Given the description of an element on the screen output the (x, y) to click on. 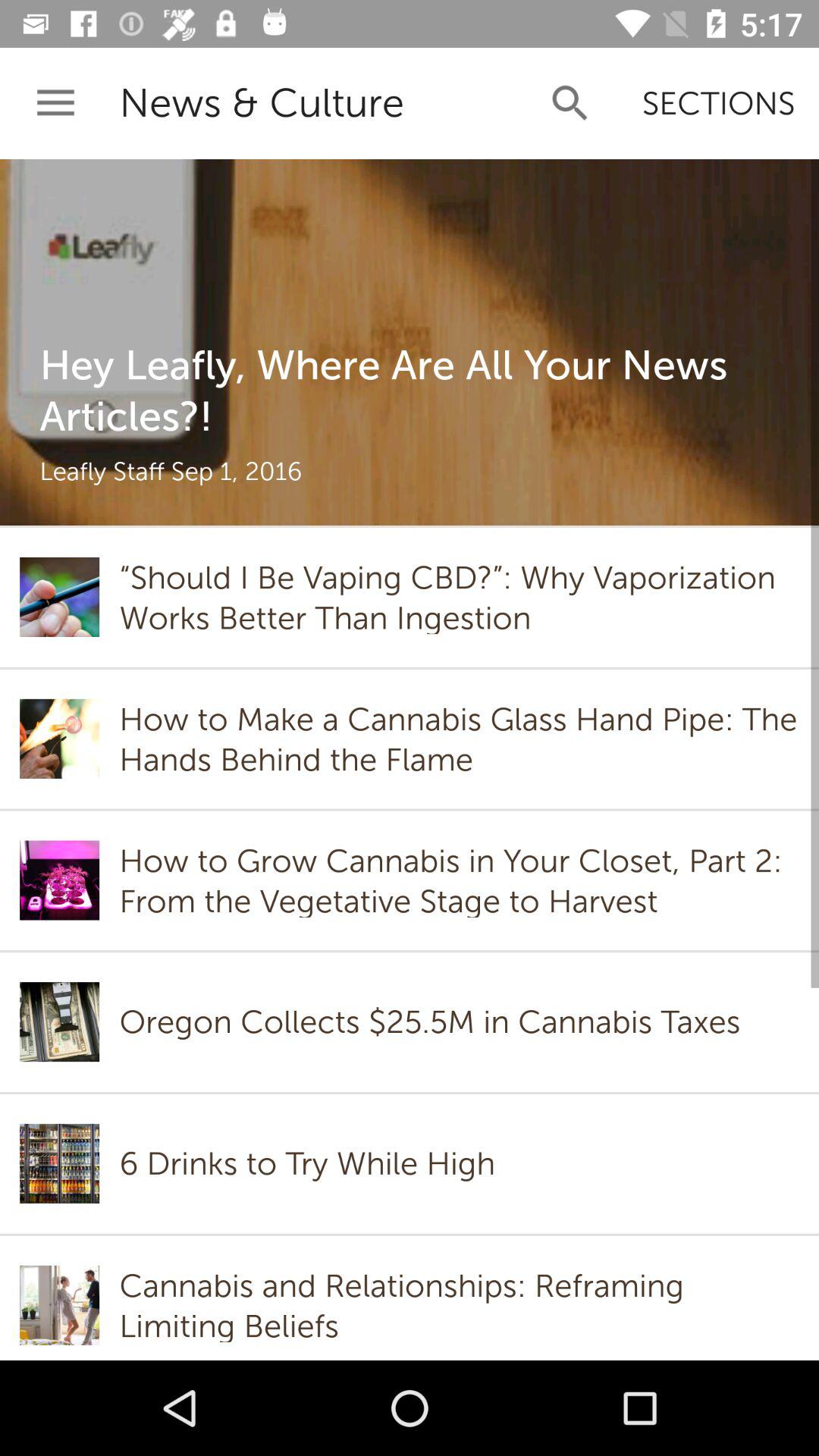
press item above how to make item (459, 597)
